Given the description of an element on the screen output the (x, y) to click on. 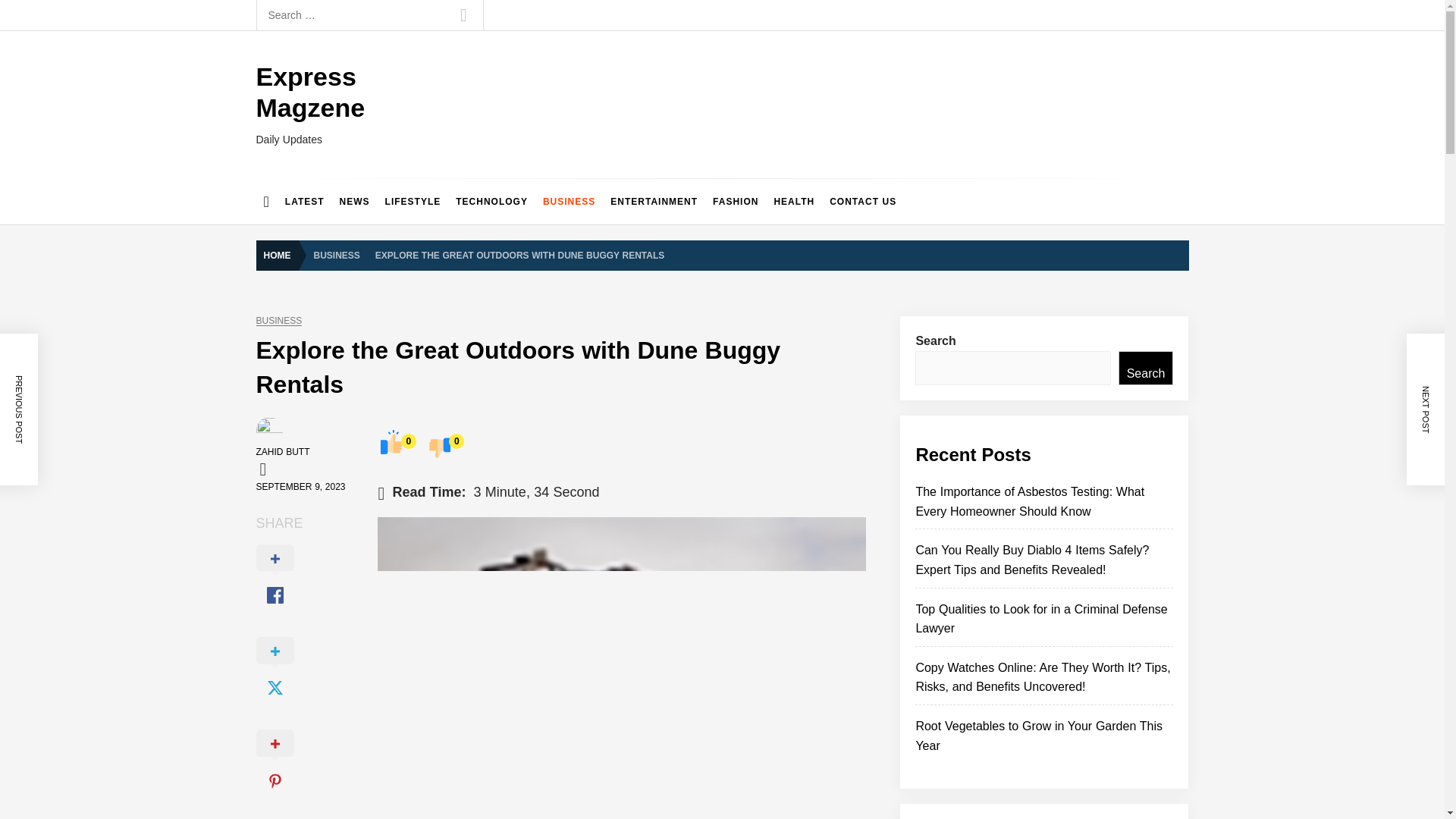
HEALTH (793, 201)
LIFESTYLE (412, 201)
ZAHID BUTT (283, 451)
TECHNOLOGY (491, 201)
Search (462, 15)
HOME (280, 255)
SEPTEMBER 9, 2023 (301, 486)
Search (462, 15)
BUSINESS (336, 254)
Search (462, 15)
LATEST (304, 201)
CONTACT US (863, 201)
EXPLORE THE GREAT OUTDOORS WITH DUNE BUGGY RENTALS (519, 254)
BUSINESS (279, 320)
BUSINESS (568, 201)
